Given the description of an element on the screen output the (x, y) to click on. 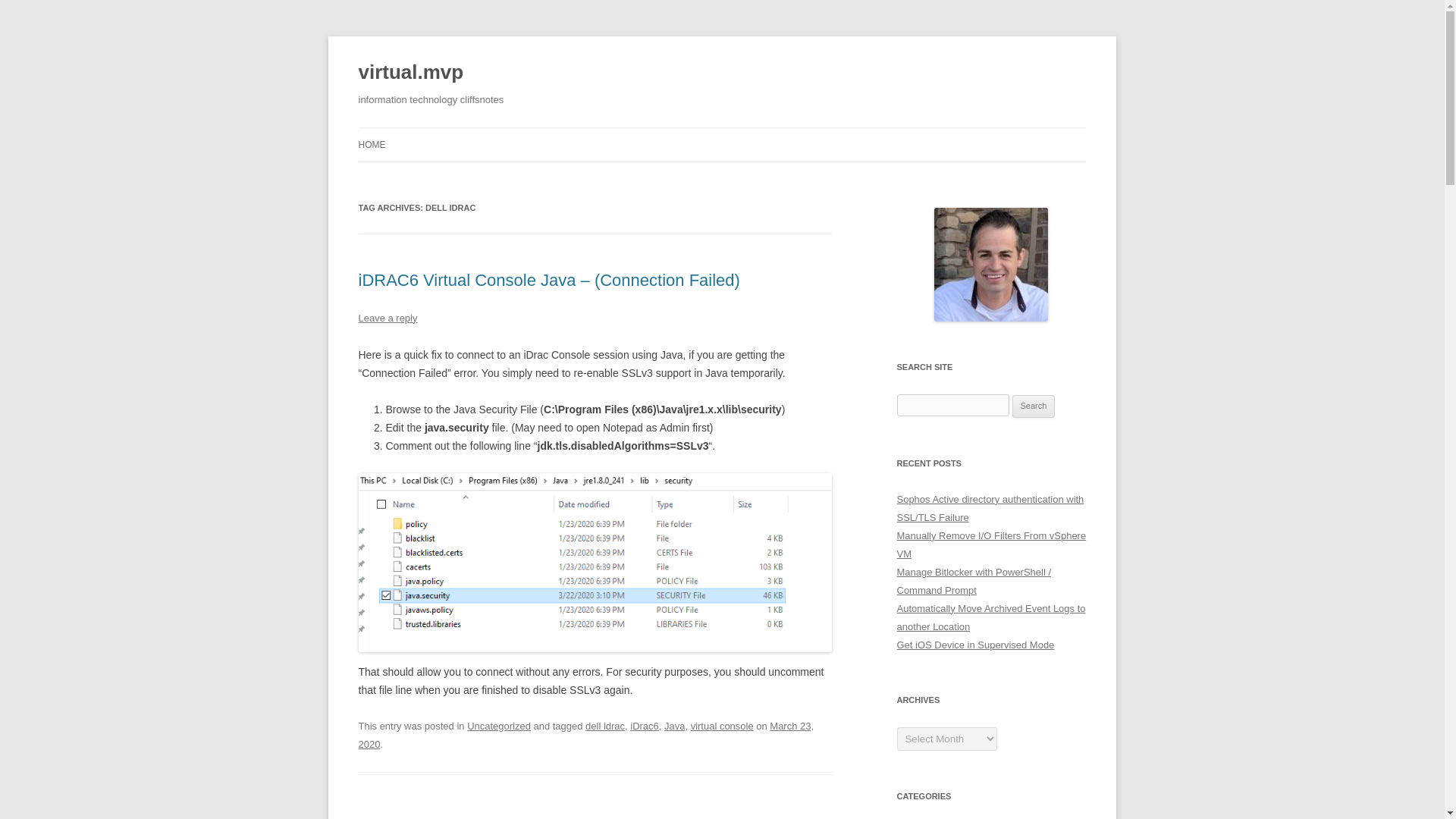
2:47 pm (585, 735)
Automatically Move Archived Event Logs to another Location (990, 617)
virtual.mvp (410, 72)
Get iOS Device in Supervised Mode (975, 644)
Search (1033, 405)
Uncategorized (499, 726)
virtual.mvp (410, 72)
iDrac6 (644, 726)
